Given the description of an element on the screen output the (x, y) to click on. 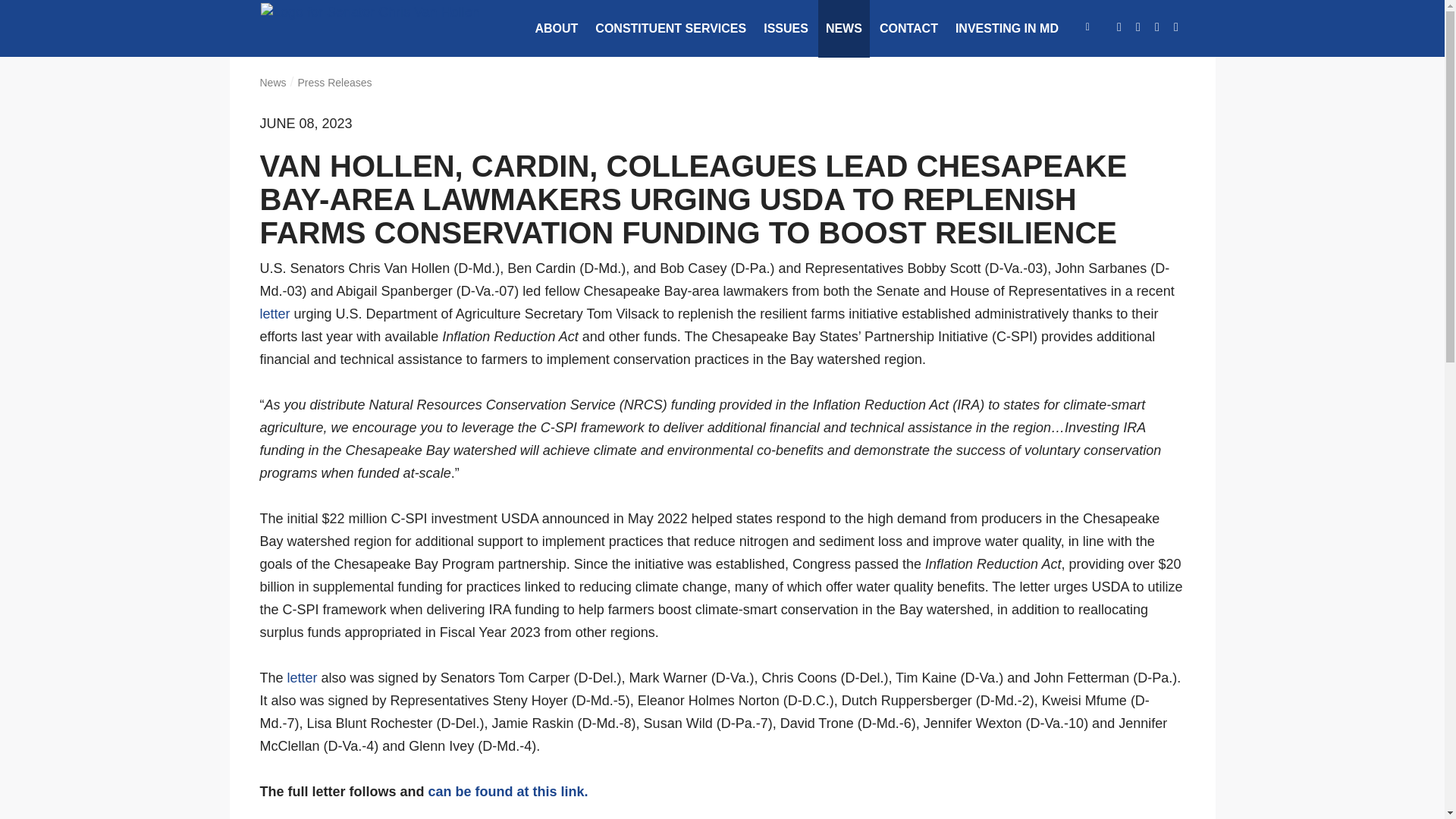
ISSUES (785, 28)
CONSTITUENT SERVICES (671, 28)
NEWS (843, 28)
ABOUT (556, 28)
